Given the description of an element on the screen output the (x, y) to click on. 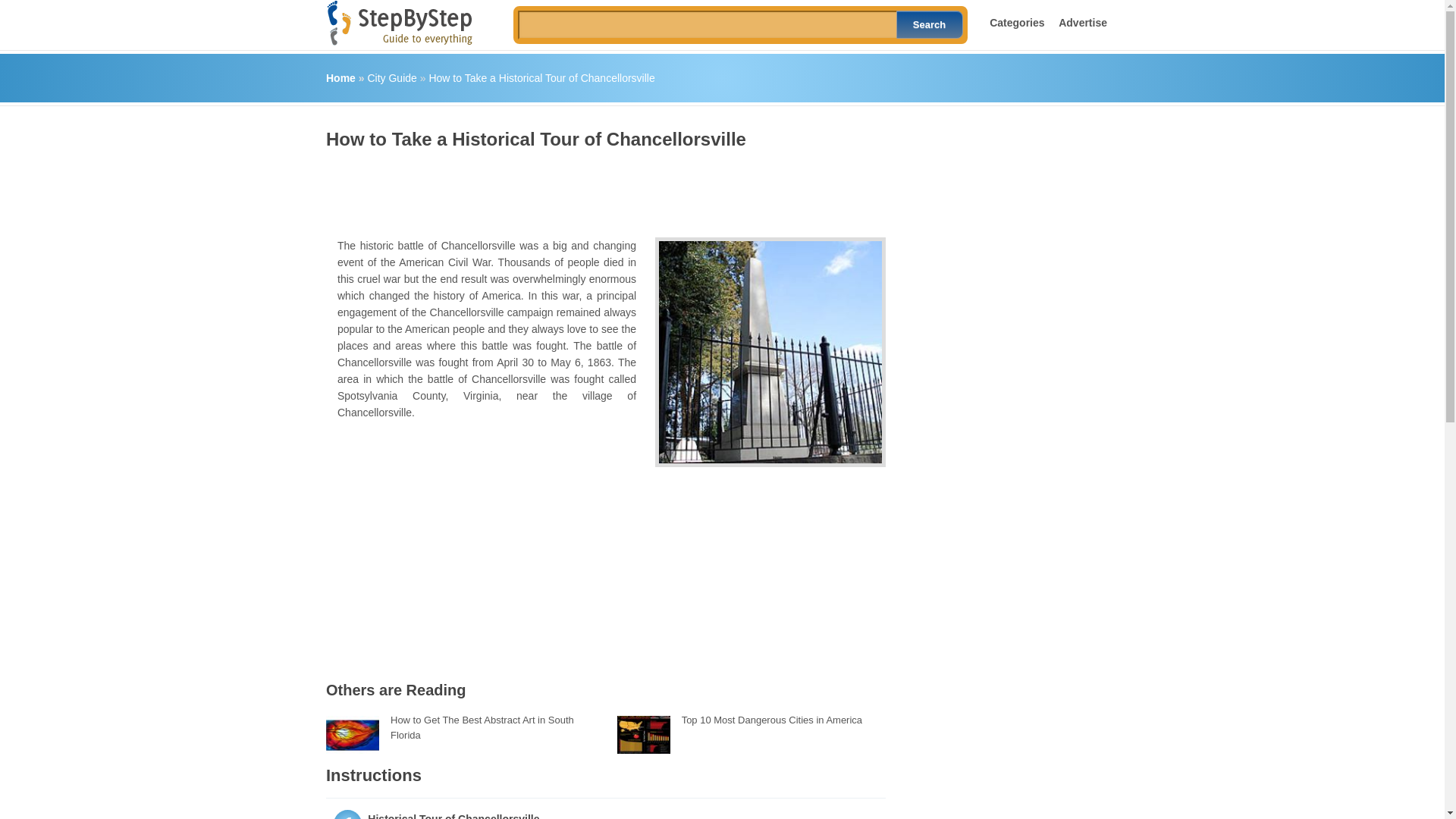
Top 10 Most Dangerous Cities in America (771, 719)
City Guide (391, 78)
Home (340, 78)
Advertisement (486, 541)
Advertisement (601, 187)
Categories (1016, 22)
Top 10 Most Dangerous Cities in America (771, 719)
Advertise (1082, 22)
Search (929, 24)
How to Take a Historical Tour of Chancellorsville (770, 351)
How to Take a Historical Tour of Chancellorsville (540, 78)
View all posts in City Guide (391, 78)
How to Take a Historical Tour of Chancellorsville (540, 78)
How to Get The Best Abstract Art in South Florida (481, 727)
Search (929, 24)
